Given the description of an element on the screen output the (x, y) to click on. 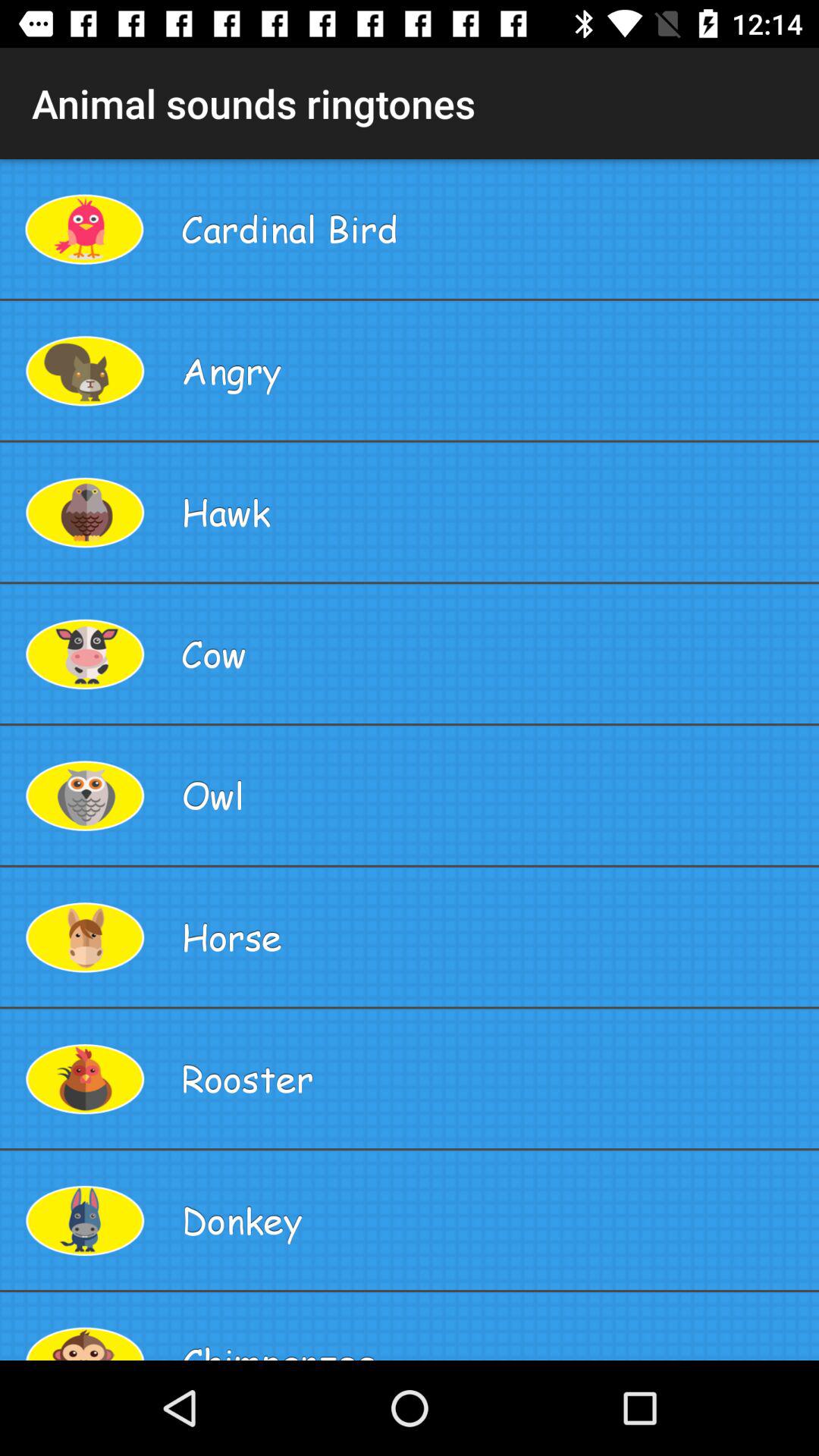
choose owl icon (494, 795)
